Given the description of an element on the screen output the (x, y) to click on. 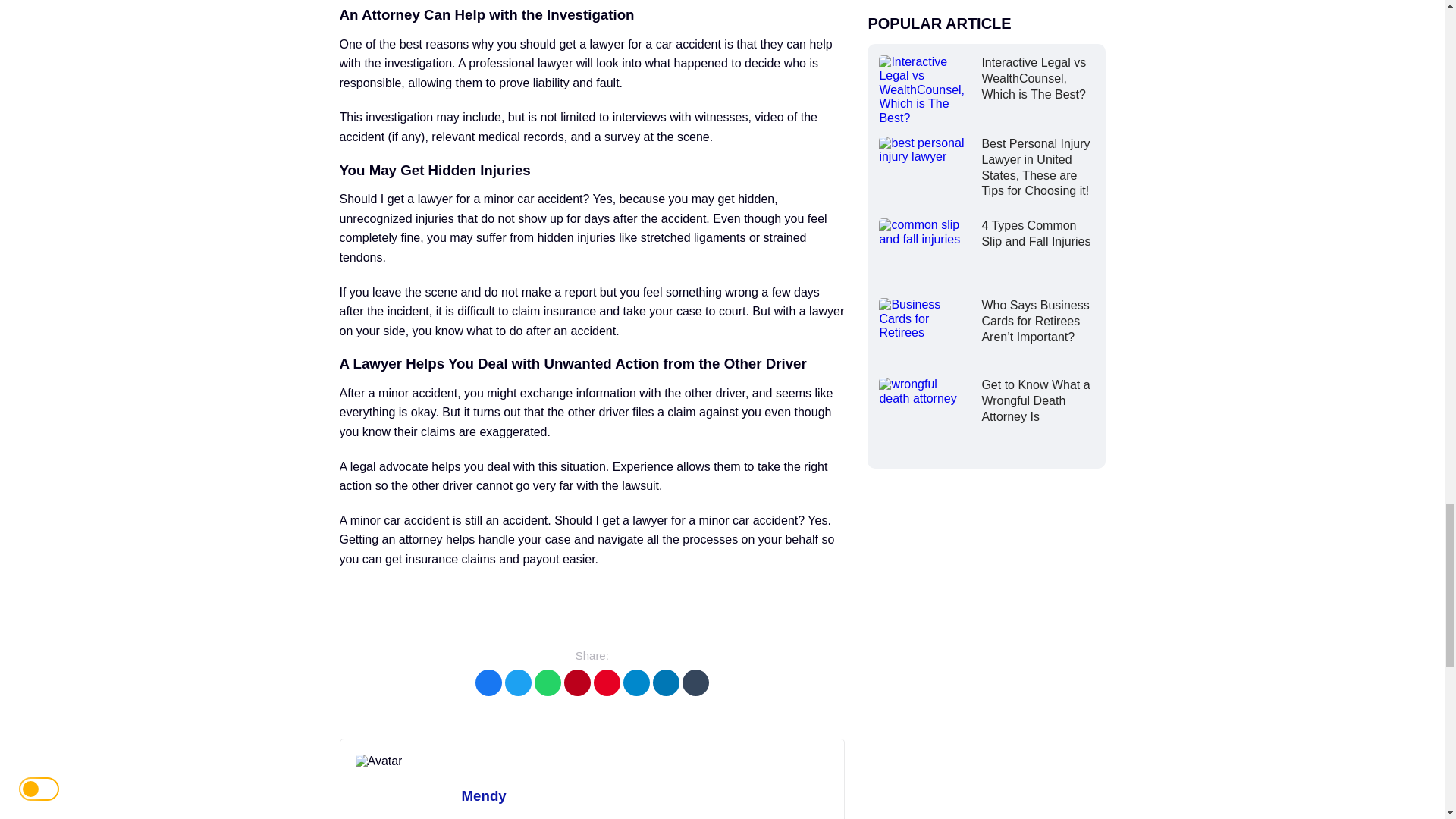
Share on Whatsapp (547, 682)
Share on Facebook (489, 682)
Share on Email (577, 682)
Share on Twitter (518, 682)
